Given the description of an element on the screen output the (x, y) to click on. 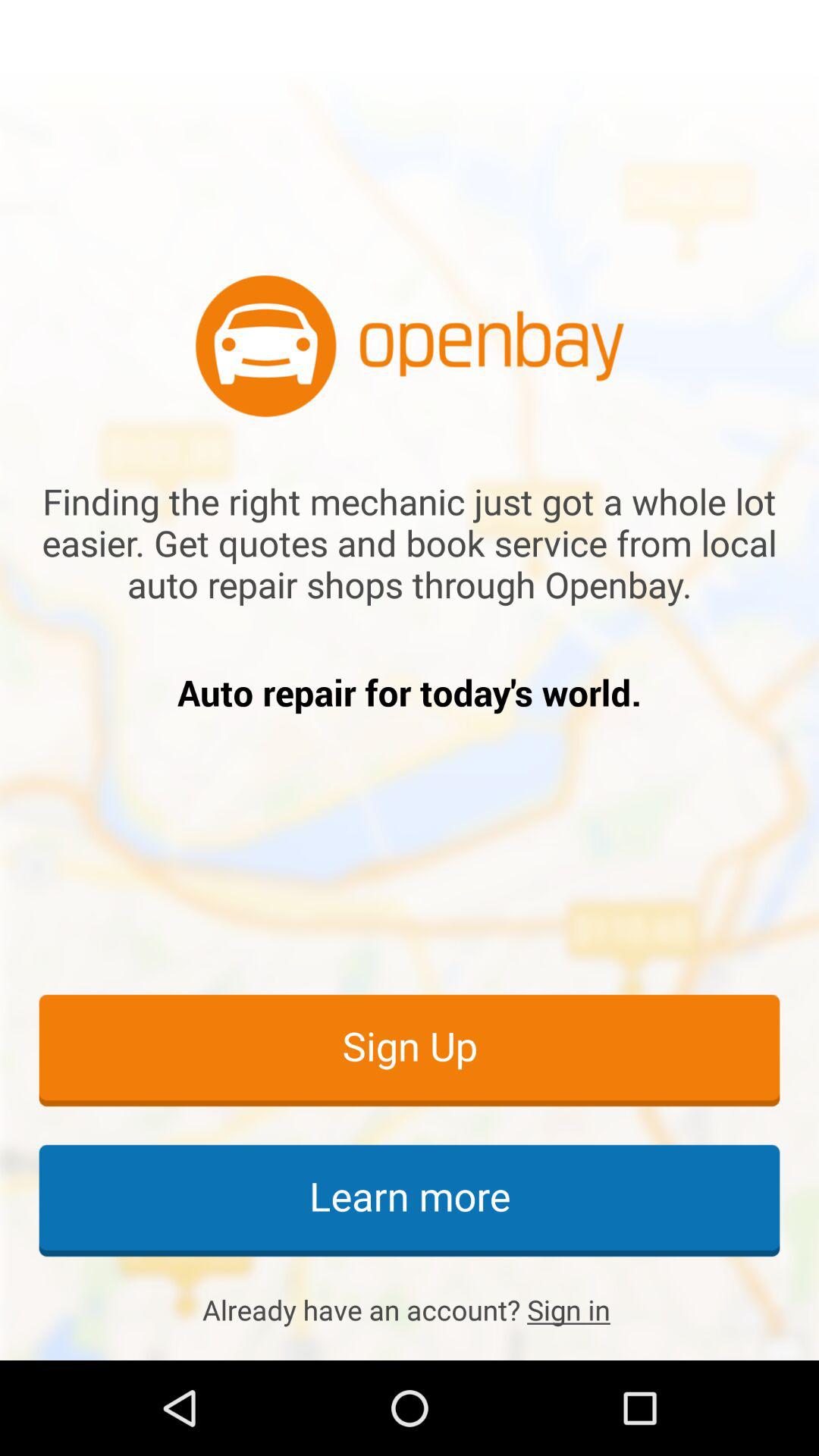
select icon below sign up icon (409, 1199)
